Given the description of an element on the screen output the (x, y) to click on. 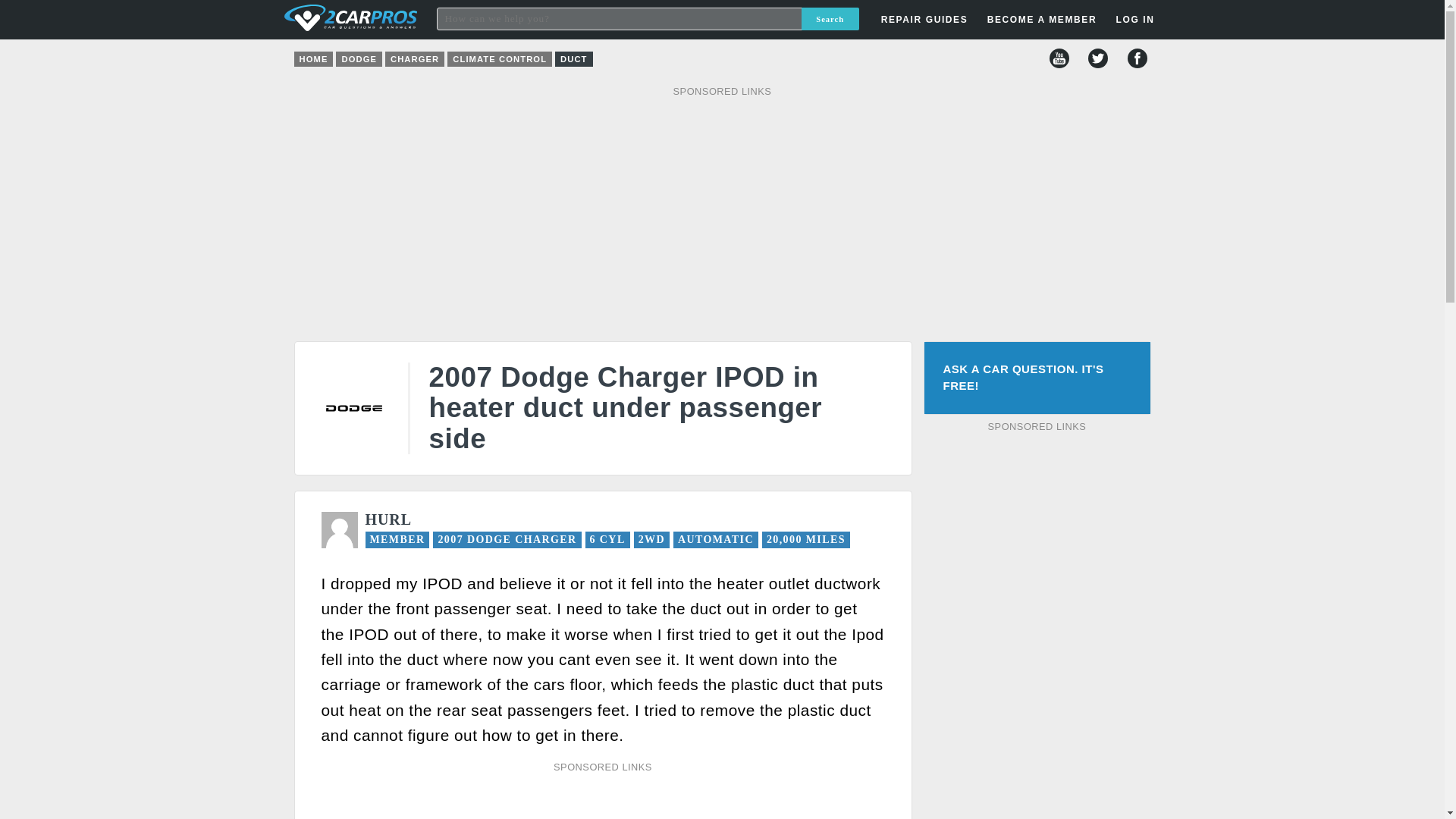
Search (830, 18)
CHARGER (414, 58)
LOG IN (1048, 242)
DODGE (358, 58)
Advertisement (481, 799)
HOME (313, 58)
ASK A CAR QUESTION. IT'S FREE! (1036, 378)
BECOME A MEMBER (1041, 19)
CLIMATE CONTROL (498, 58)
Twitter (1097, 57)
YouTube (1058, 57)
REPAIR GUIDES (924, 19)
DUCT (573, 58)
Search (830, 18)
